Given the description of an element on the screen output the (x, y) to click on. 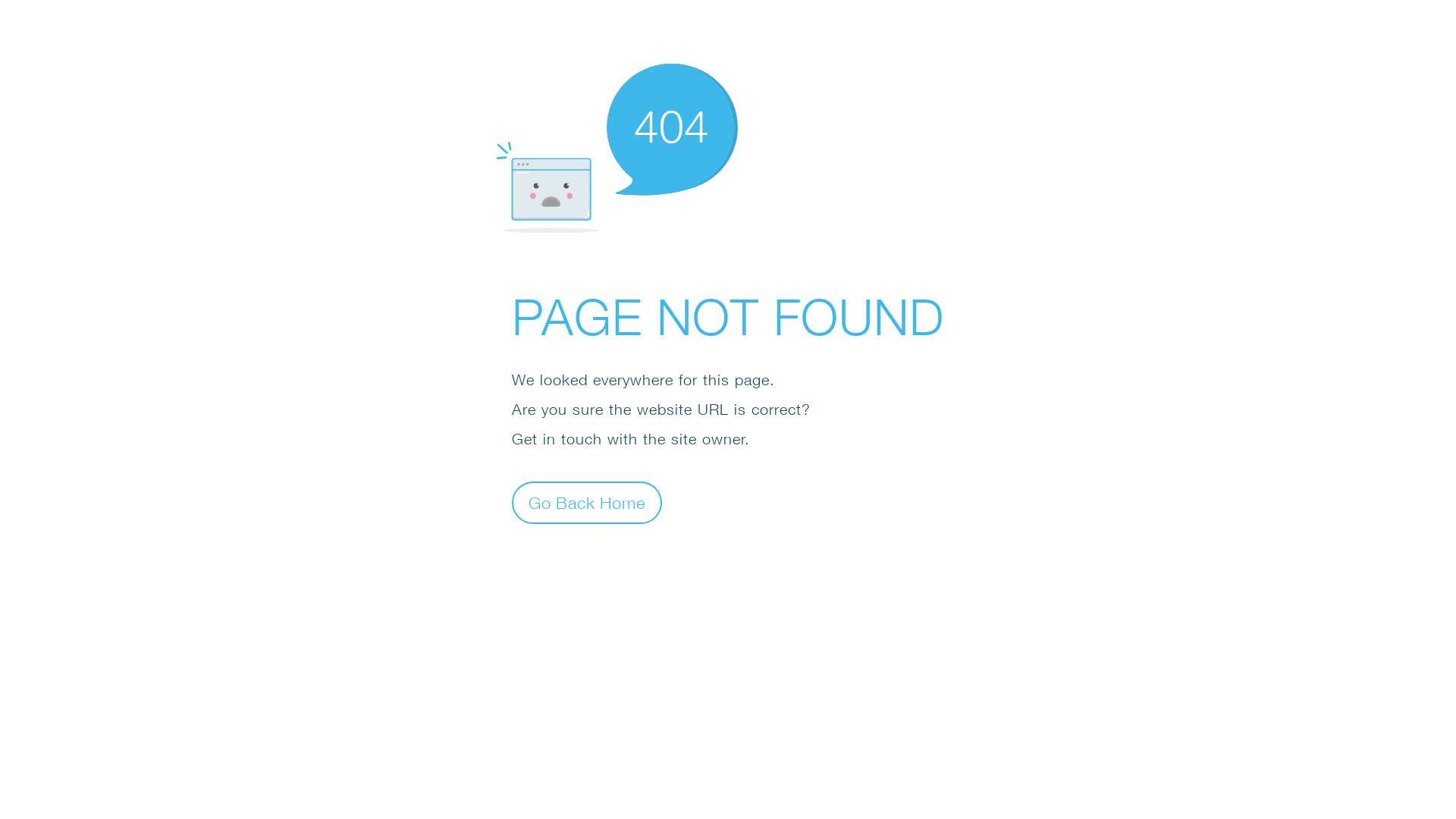
Go Back Home Element type: text (586, 502)
